Given the description of an element on the screen output the (x, y) to click on. 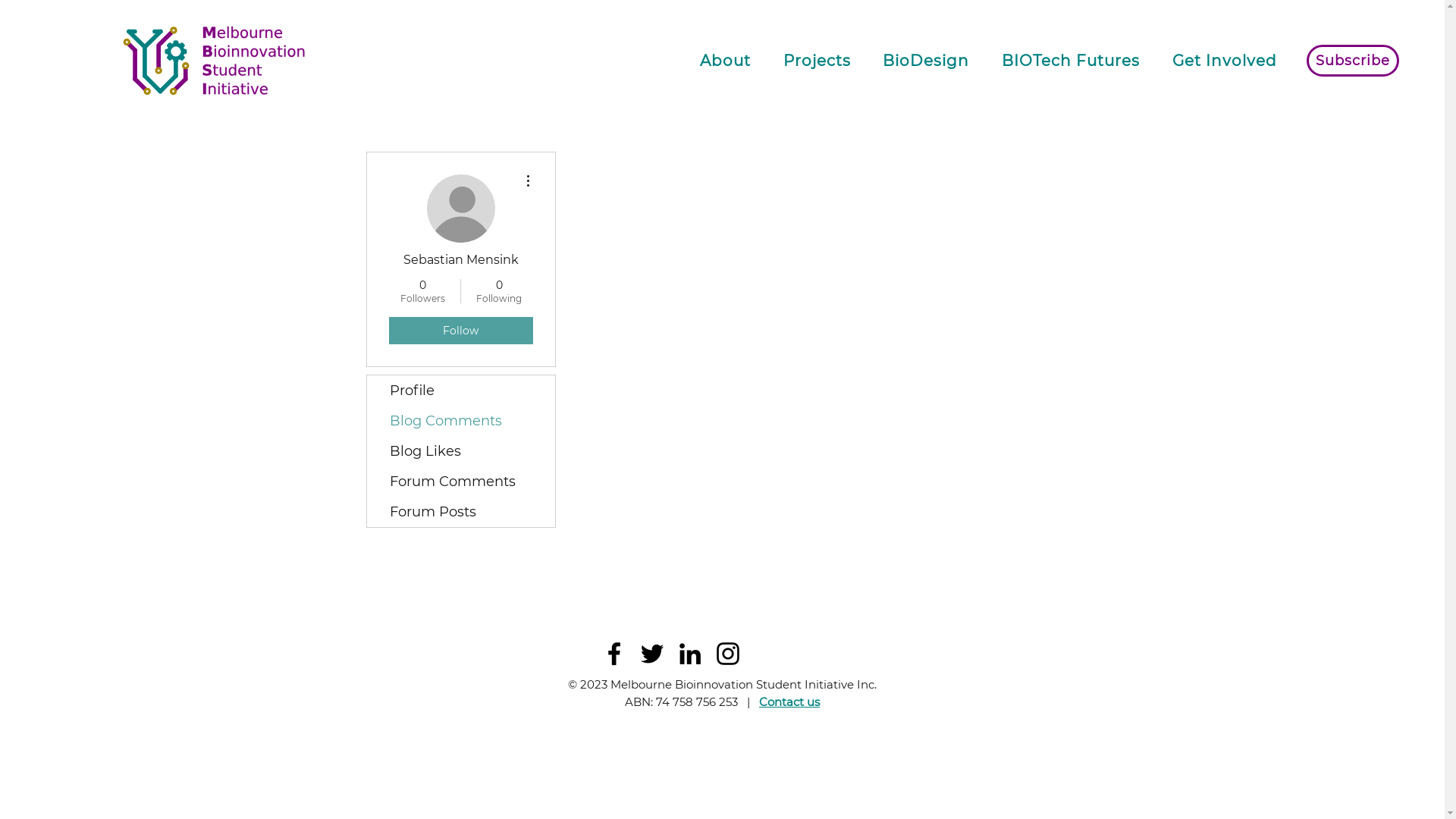
Projects Element type: text (817, 60)
Forum Comments Element type: text (461, 481)
0
Followers Element type: text (421, 290)
0
Following Element type: text (499, 290)
Forum Posts Element type: text (461, 511)
Follow Element type: text (460, 330)
Blog Comments Element type: text (461, 420)
Blog Likes Element type: text (461, 451)
Profile Element type: text (461, 390)
Subscribe Element type: text (1352, 60)
BioDesign Element type: text (925, 60)
Contact us Element type: text (789, 701)
BIOTech Futures Element type: text (1070, 60)
